Given the description of an element on the screen output the (x, y) to click on. 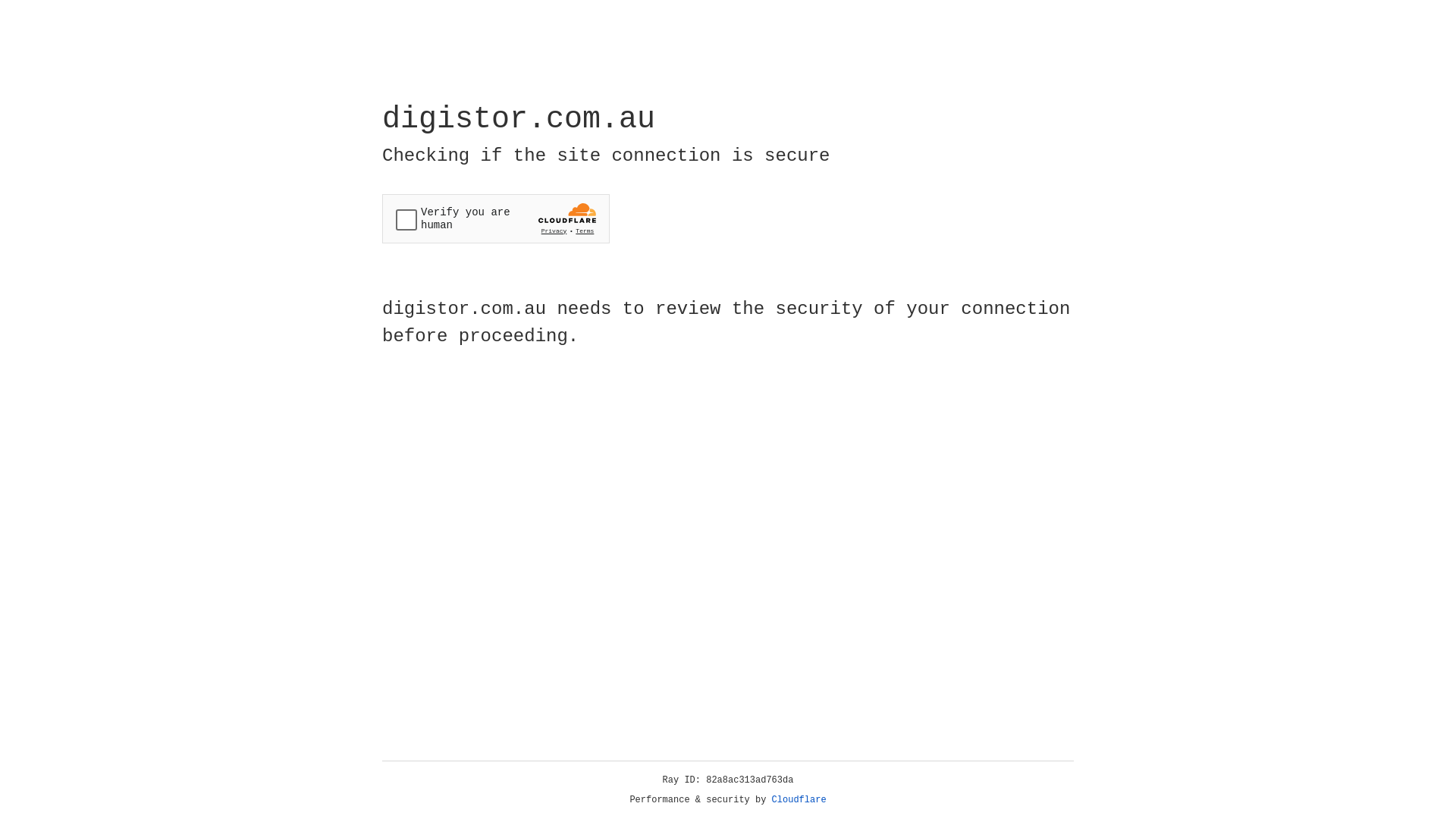
Cloudflare Element type: text (798, 799)
Widget containing a Cloudflare security challenge Element type: hover (495, 218)
